Given the description of an element on the screen output the (x, y) to click on. 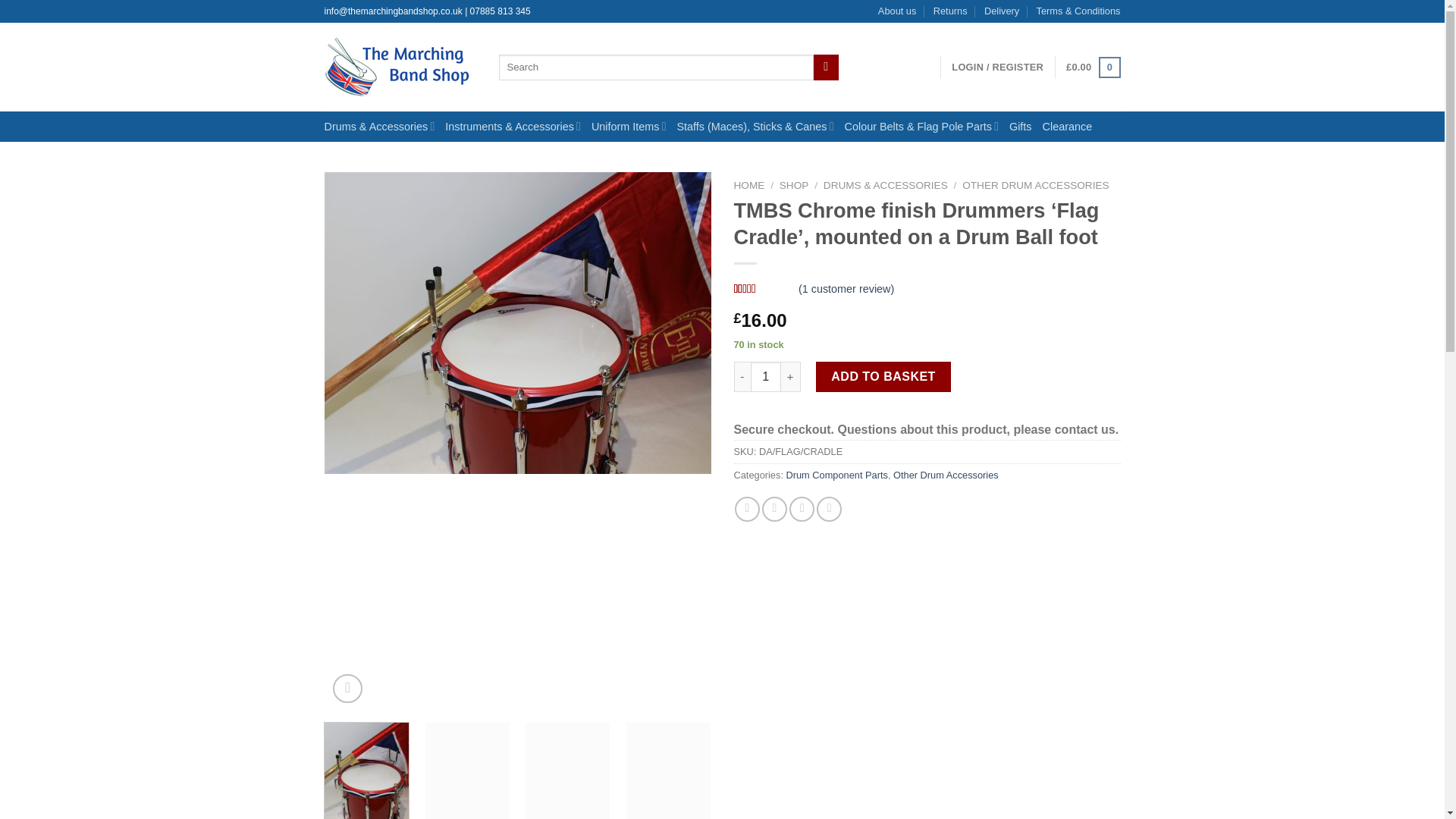
Email to a Friend (801, 508)
Share on Twitter (774, 508)
Returns (950, 11)
Uniform Items (634, 125)
About us (897, 11)
The Marching Band Shop (400, 66)
Zoom (347, 688)
Share on Facebook (747, 508)
1 (765, 376)
Search (825, 67)
